Given the description of an element on the screen output the (x, y) to click on. 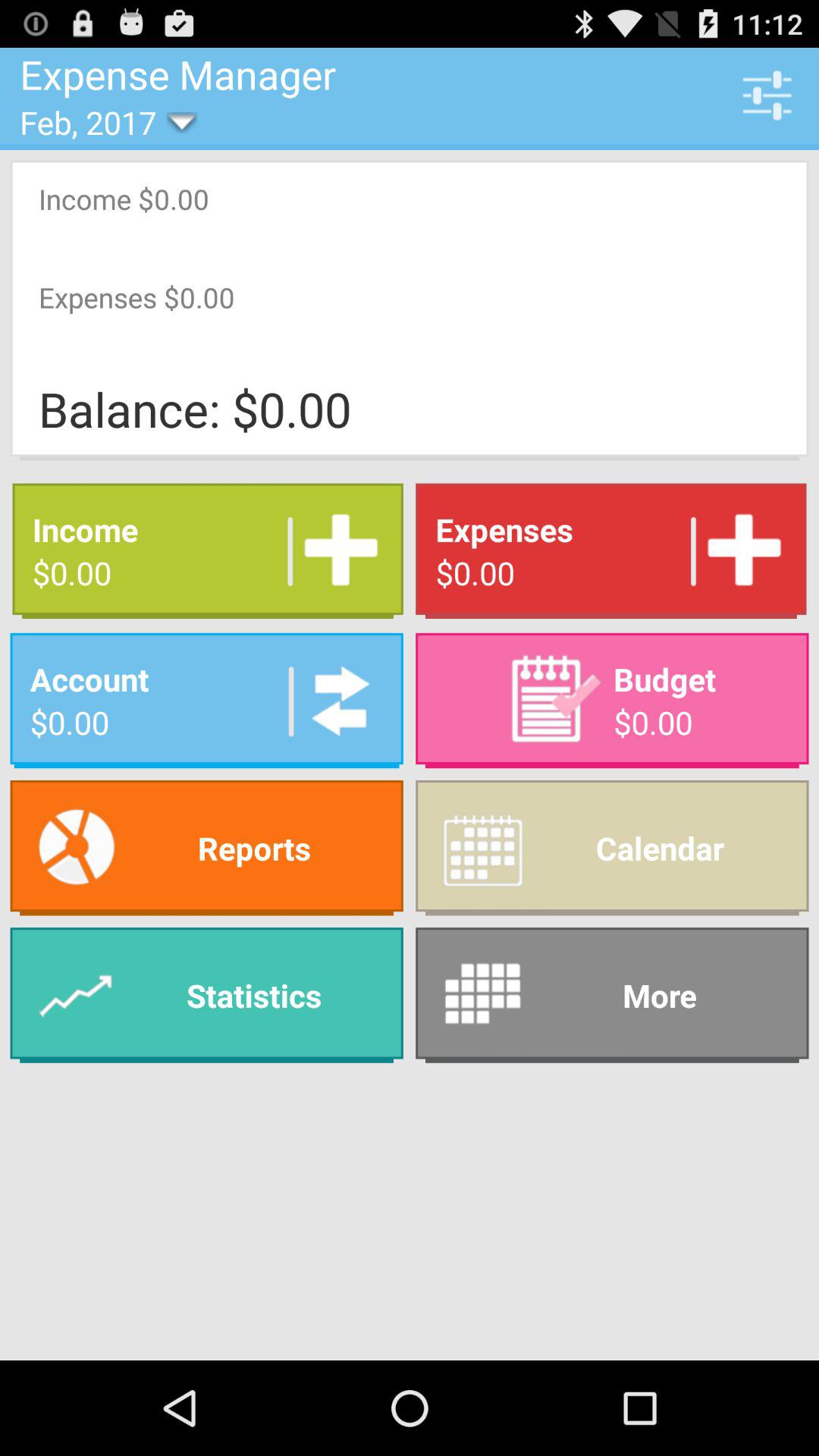
flip to the statistics item (206, 994)
